Given the description of an element on the screen output the (x, y) to click on. 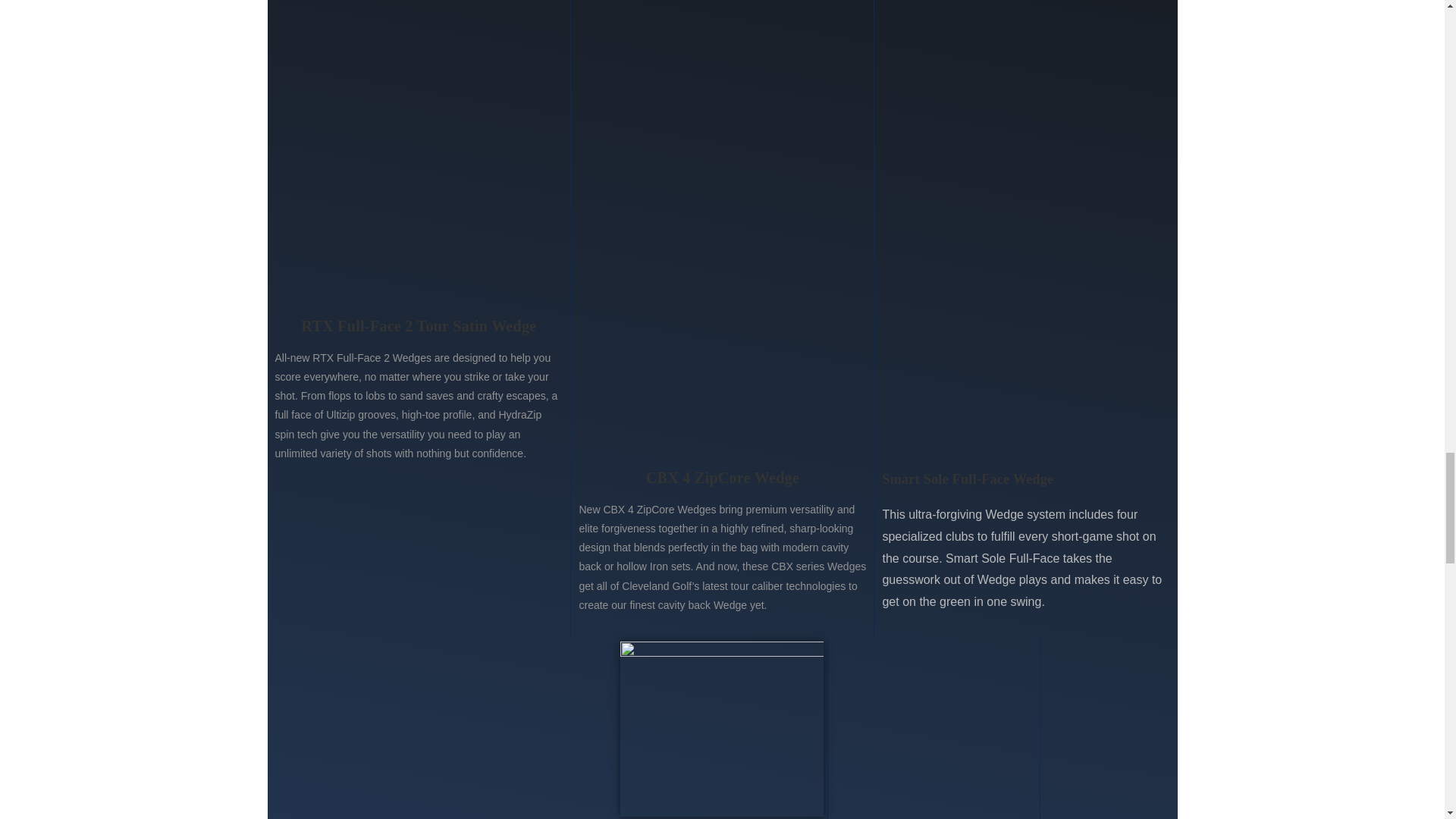
CBX 4 ZipCore Wedge (722, 477)
Smart Sole Full-Face Wedge (1025, 479)
